Given the description of an element on the screen output the (x, y) to click on. 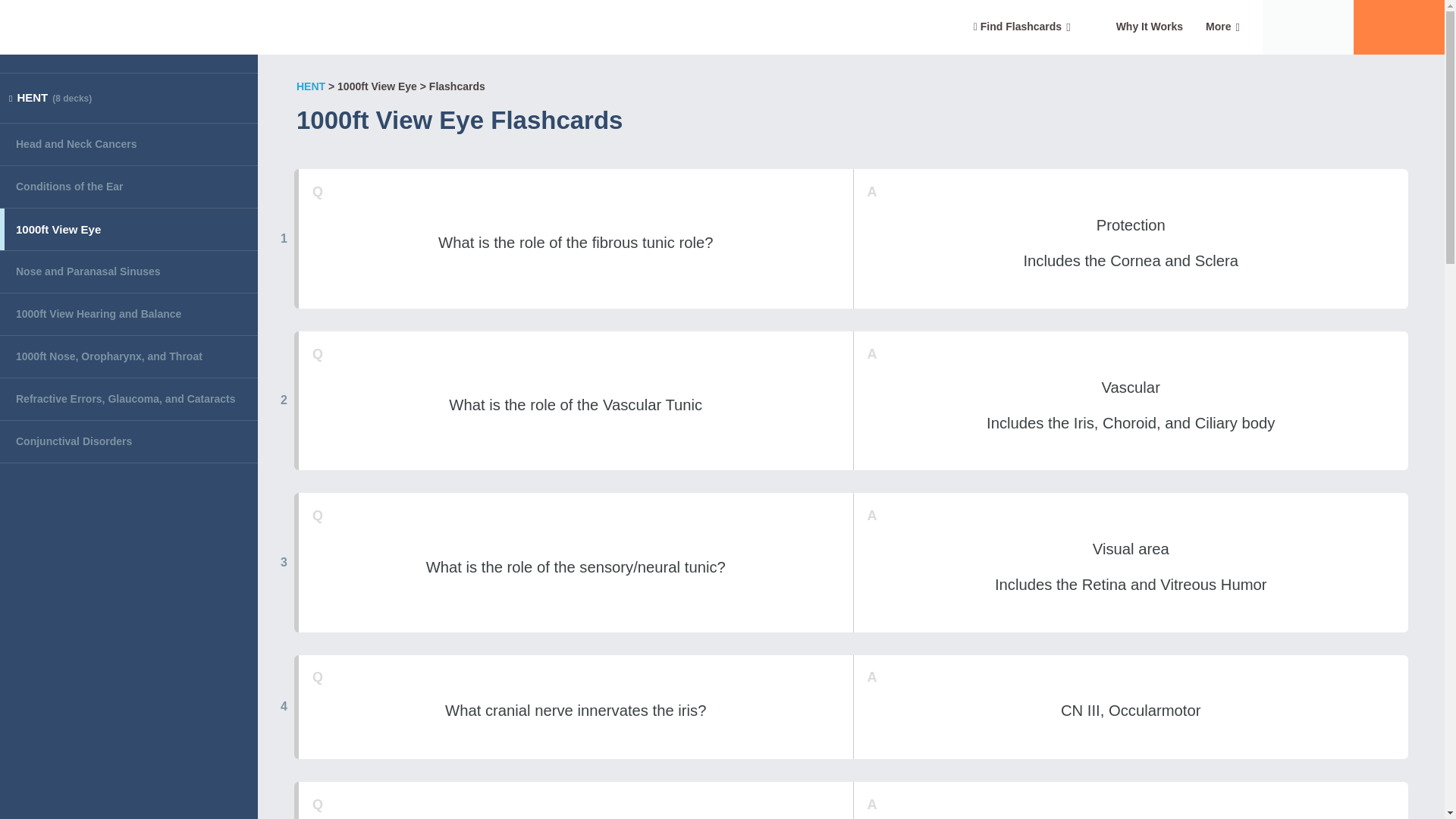
Find Flashcards (1022, 27)
Conditions of the Ear (128, 187)
Why It Works (1149, 27)
Brainscape (111, 27)
1000ft View Eye (128, 229)
HENT (310, 86)
Nose and Paranasal Sinuses (128, 271)
Head and Neck Cancers (128, 144)
